Given the description of an element on the screen output the (x, y) to click on. 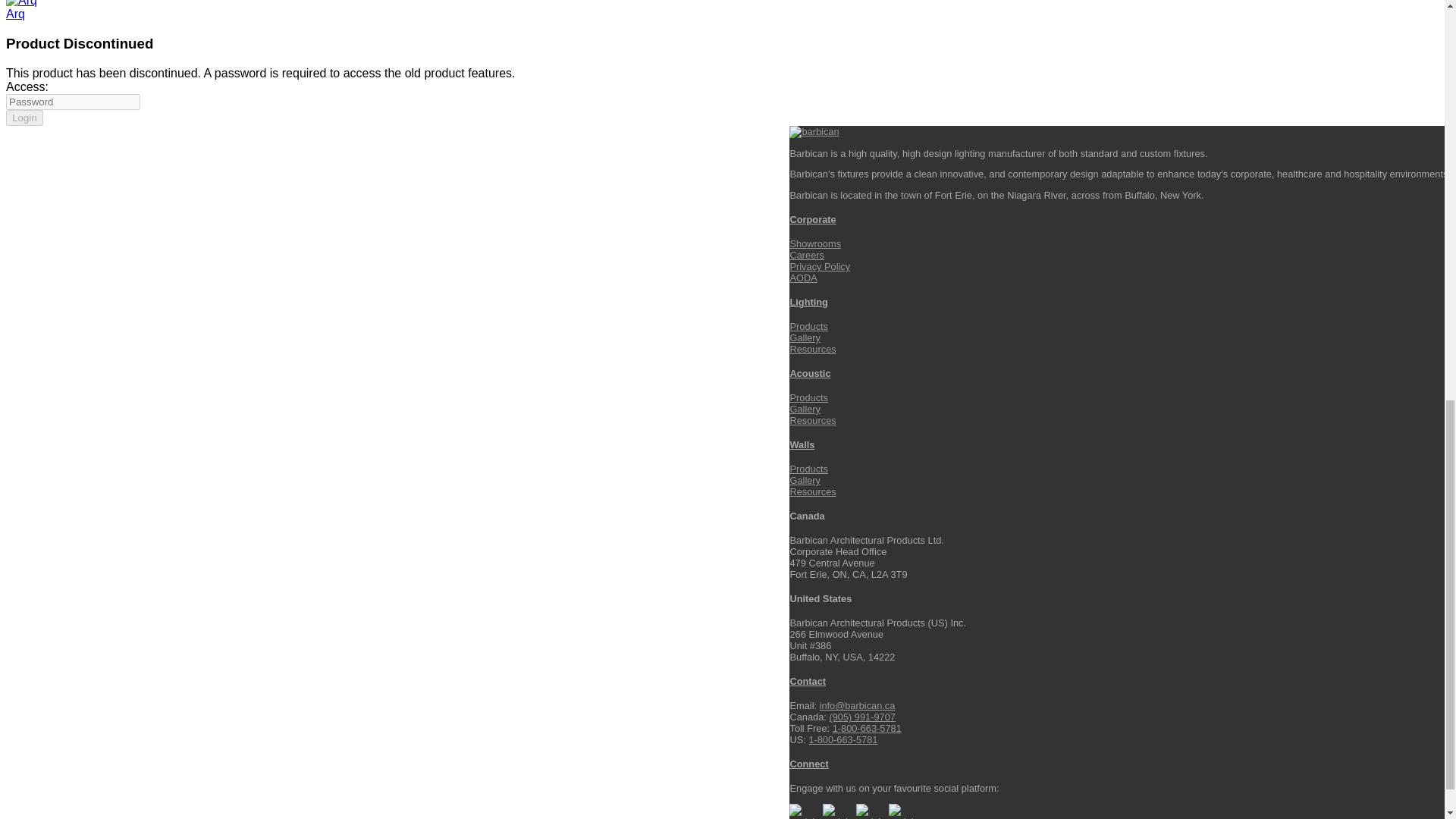
Careers (806, 255)
Showrooms (815, 243)
Login (24, 117)
AODA (802, 277)
Gallery (805, 337)
Lighting (808, 301)
Corporate (812, 219)
Resources (812, 348)
Arq (14, 13)
Privacy Policy (819, 266)
Products (808, 326)
Login (24, 117)
